Given the description of an element on the screen output the (x, y) to click on. 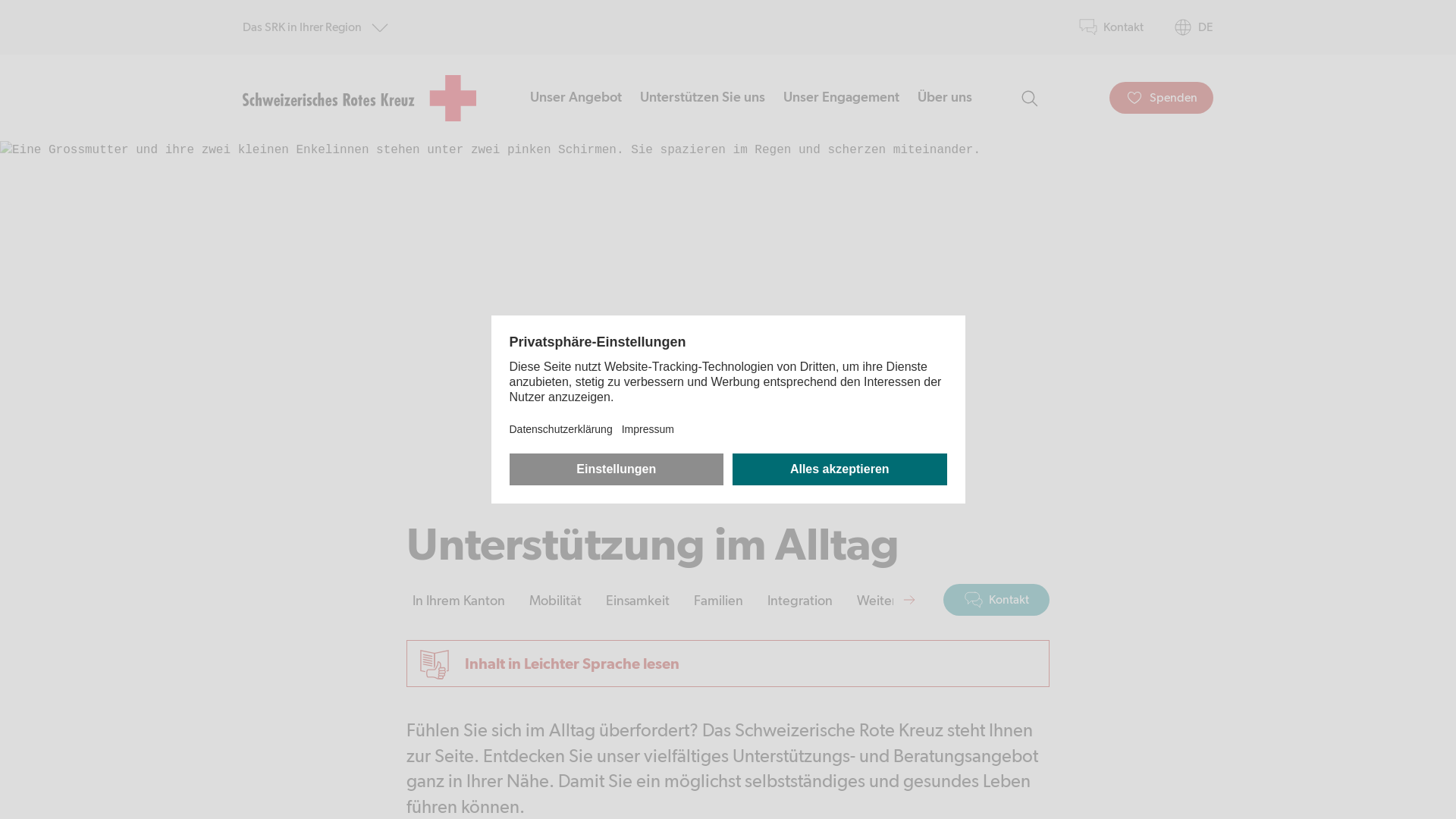
Einsamkeit Element type: text (637, 599)
Familien Element type: text (718, 599)
Unser Angebot Element type: text (575, 97)
Durchsuchen Sie den Inhalt der Website Element type: text (1028, 97)
Das SRK in Ihrer Region Element type: text (315, 27)
Kontakt Element type: text (996, 599)
Unser Engagement Element type: text (840, 97)
DE Element type: text (1193, 27)
Spenden Element type: text (1161, 97)
Integration Element type: text (799, 599)
Kontakt Element type: text (1110, 27)
Logo des Schweizerischen Roten Kreuzes(zur Hauptseite) Element type: text (359, 97)
Weitere Element type: text (879, 599)
In Ihrem Kanton Element type: text (458, 599)
Inhalt in Leichter Sprache lesen Element type: text (727, 663)
